Given the description of an element on the screen output the (x, y) to click on. 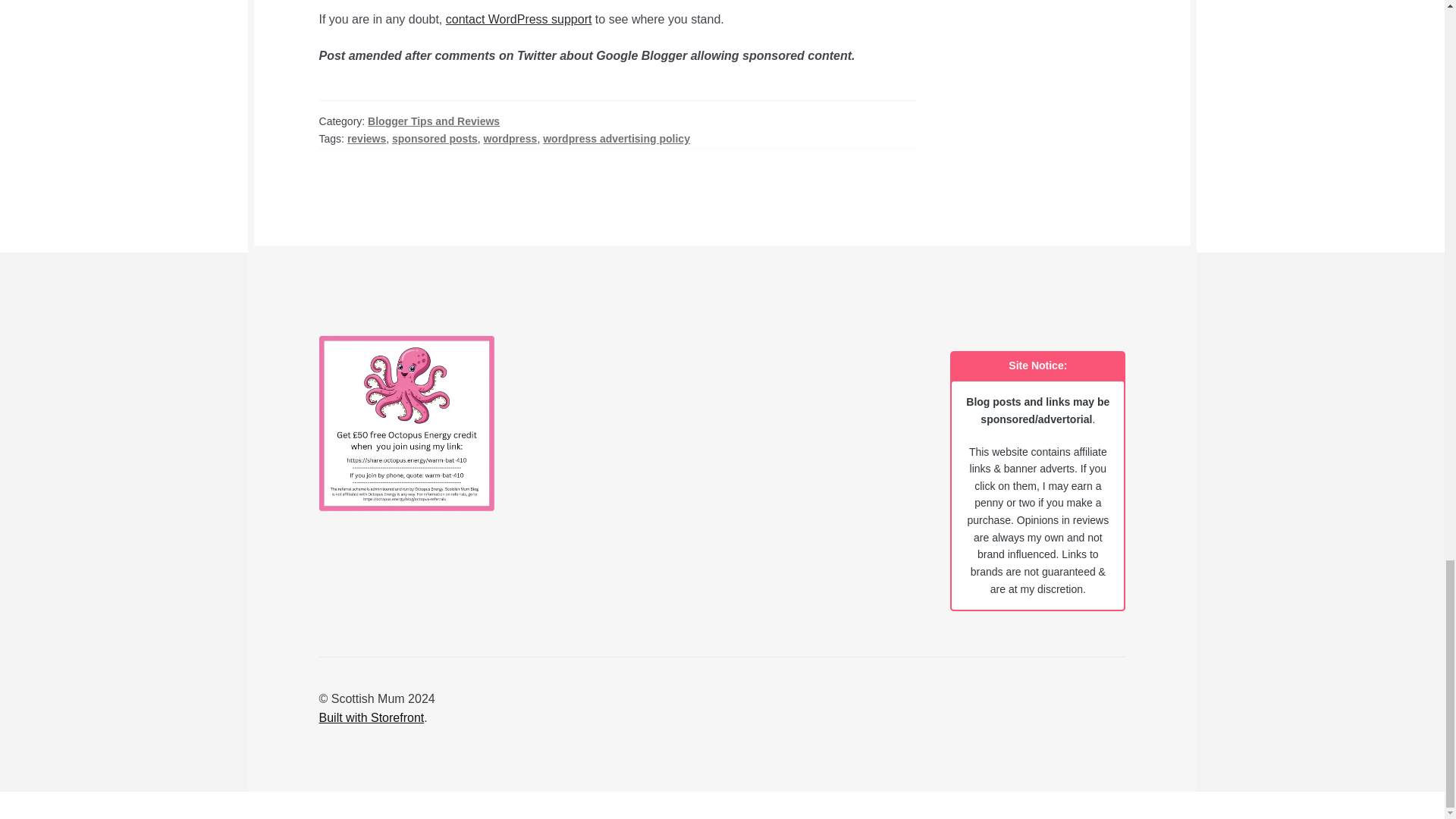
Contact Support (518, 19)
